Given the description of an element on the screen output the (x, y) to click on. 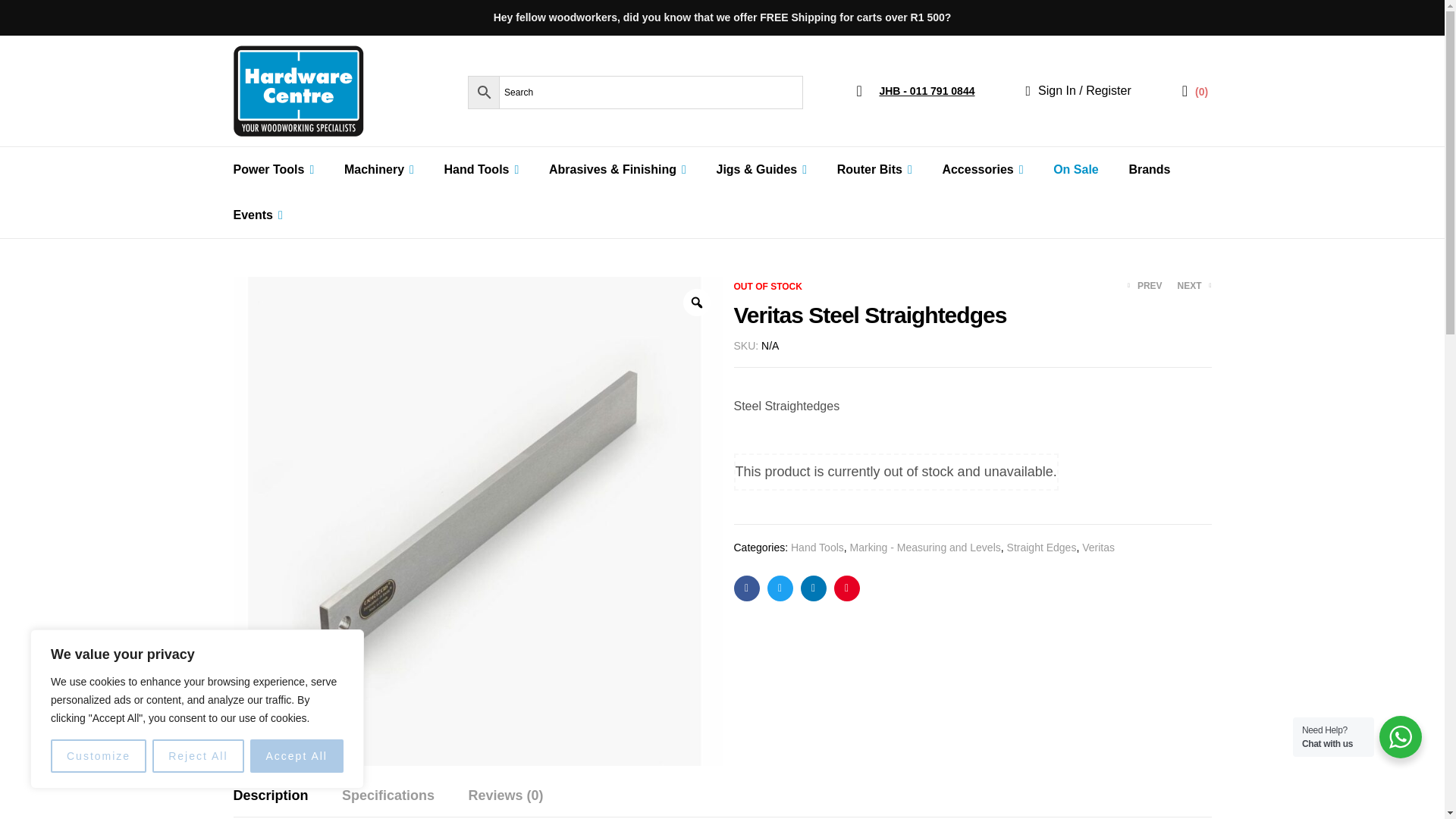
JHB - 011 791 0844 (915, 91)
View your shopping cart (1195, 90)
Reject All (197, 756)
Share on Pinterest (847, 588)
Share on Twitter (780, 588)
Customize (98, 756)
Share on facebook (746, 588)
Accept All (296, 756)
Power Tools (273, 169)
Share on LinkedIn (813, 588)
